Given the description of an element on the screen output the (x, y) to click on. 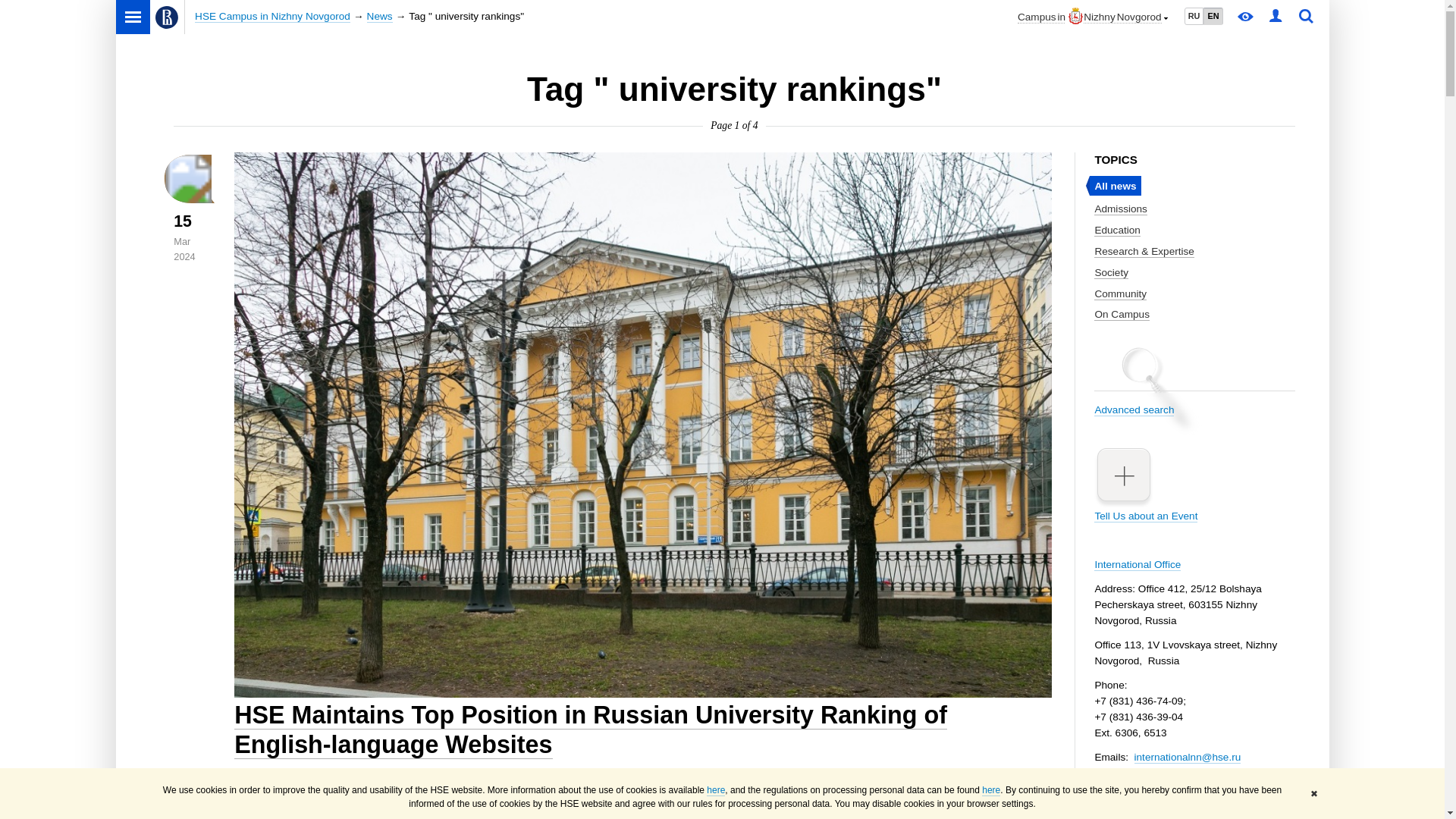
here (715, 790)
Community (1120, 294)
Tell Us about an Event (1194, 484)
HSE Campus in Nizhny Novgorod (272, 16)
Education (1117, 230)
International Office (1137, 564)
On Campus (1122, 314)
Society (1111, 272)
